Given the description of an element on the screen output the (x, y) to click on. 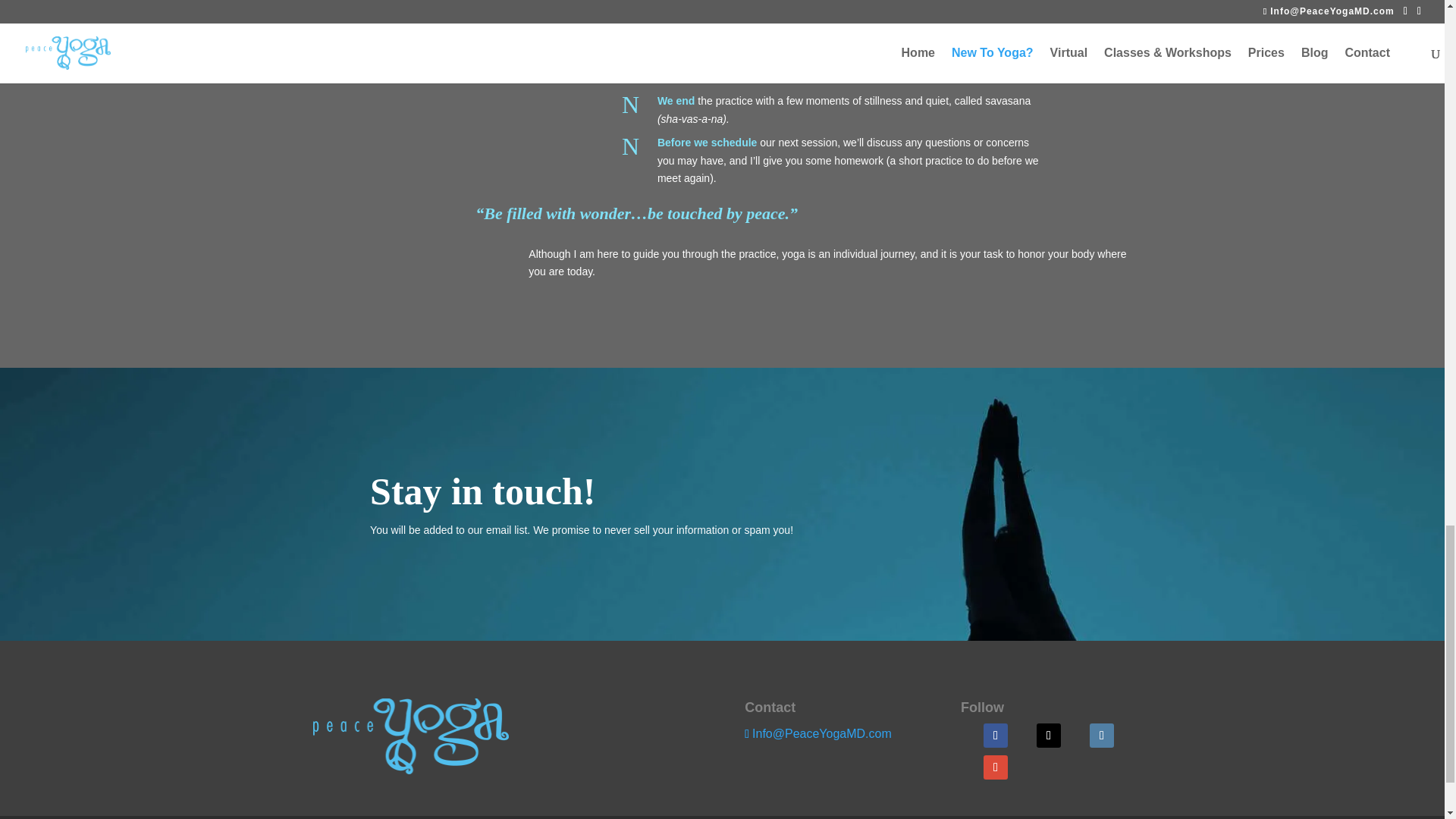
Follow on Twitter (1048, 735)
Follow on Facebook (995, 735)
Follow on google-plus (995, 767)
Follow on Instagram (1101, 735)
